Given the description of an element on the screen output the (x, y) to click on. 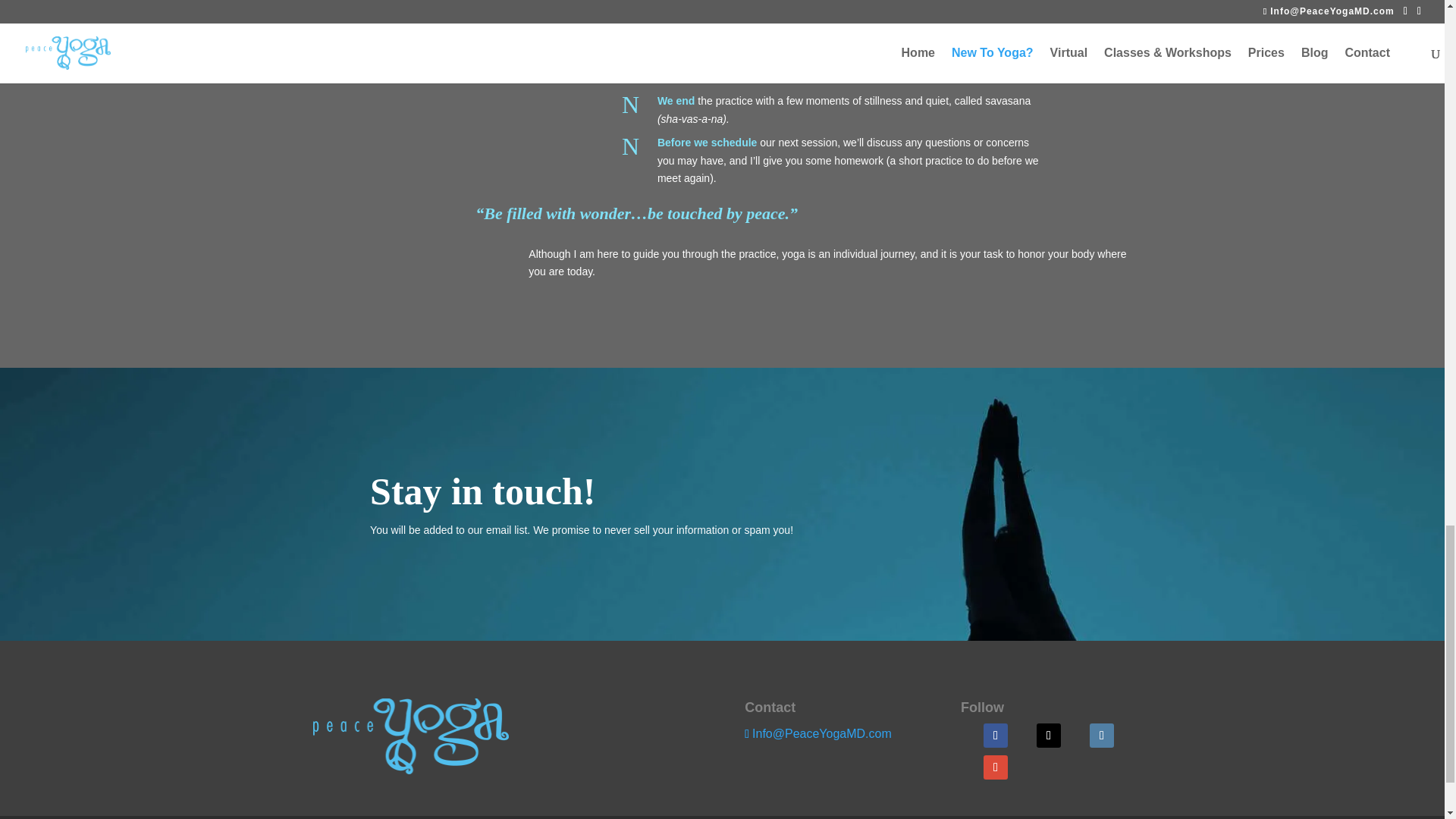
Follow on Twitter (1048, 735)
Follow on Facebook (995, 735)
Follow on google-plus (995, 767)
Follow on Instagram (1101, 735)
